Given the description of an element on the screen output the (x, y) to click on. 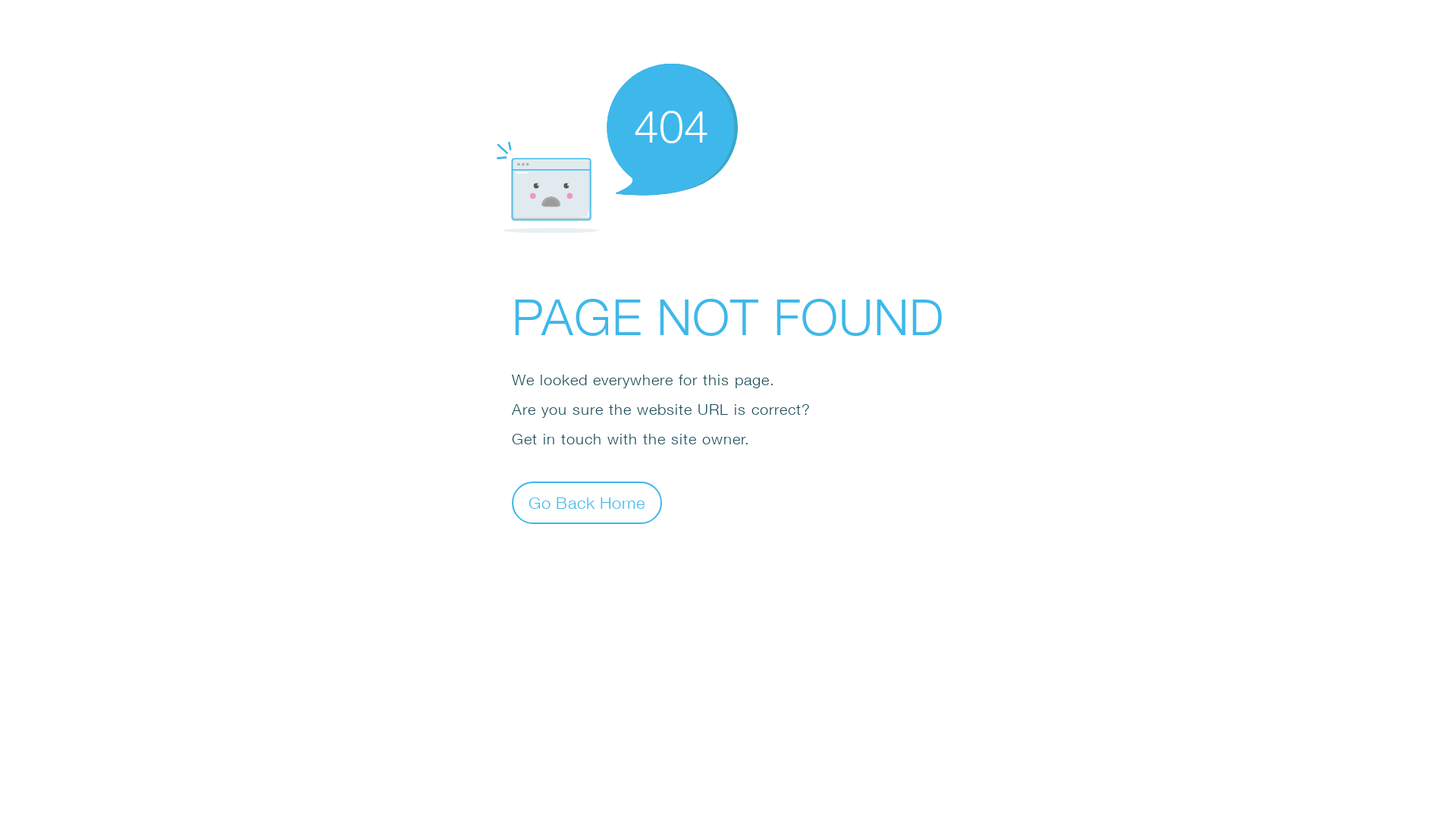
Go Back Home Element type: text (586, 502)
